Given the description of an element on the screen output the (x, y) to click on. 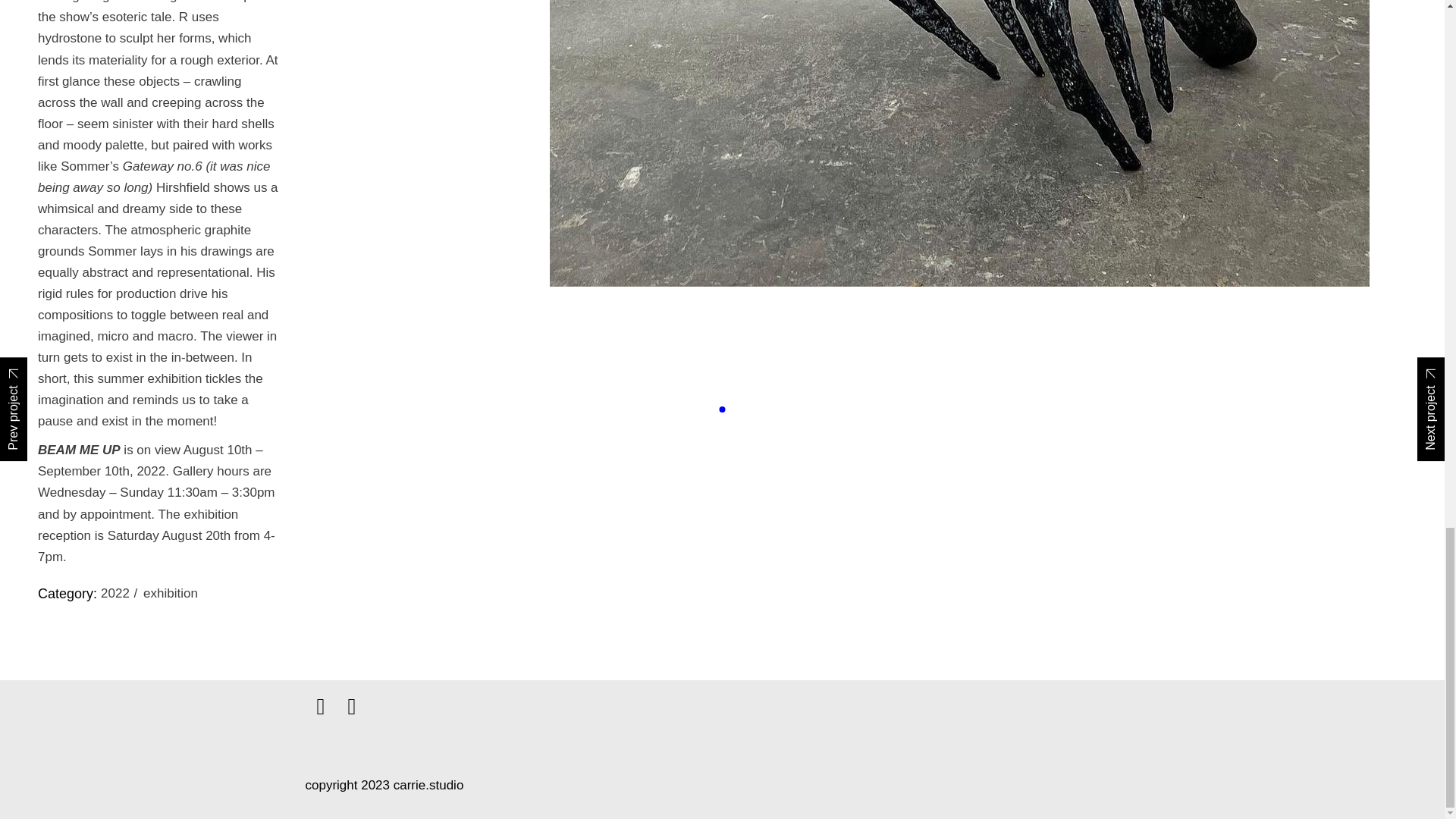
2022 (119, 593)
exhibition (170, 593)
